Given the description of an element on the screen output the (x, y) to click on. 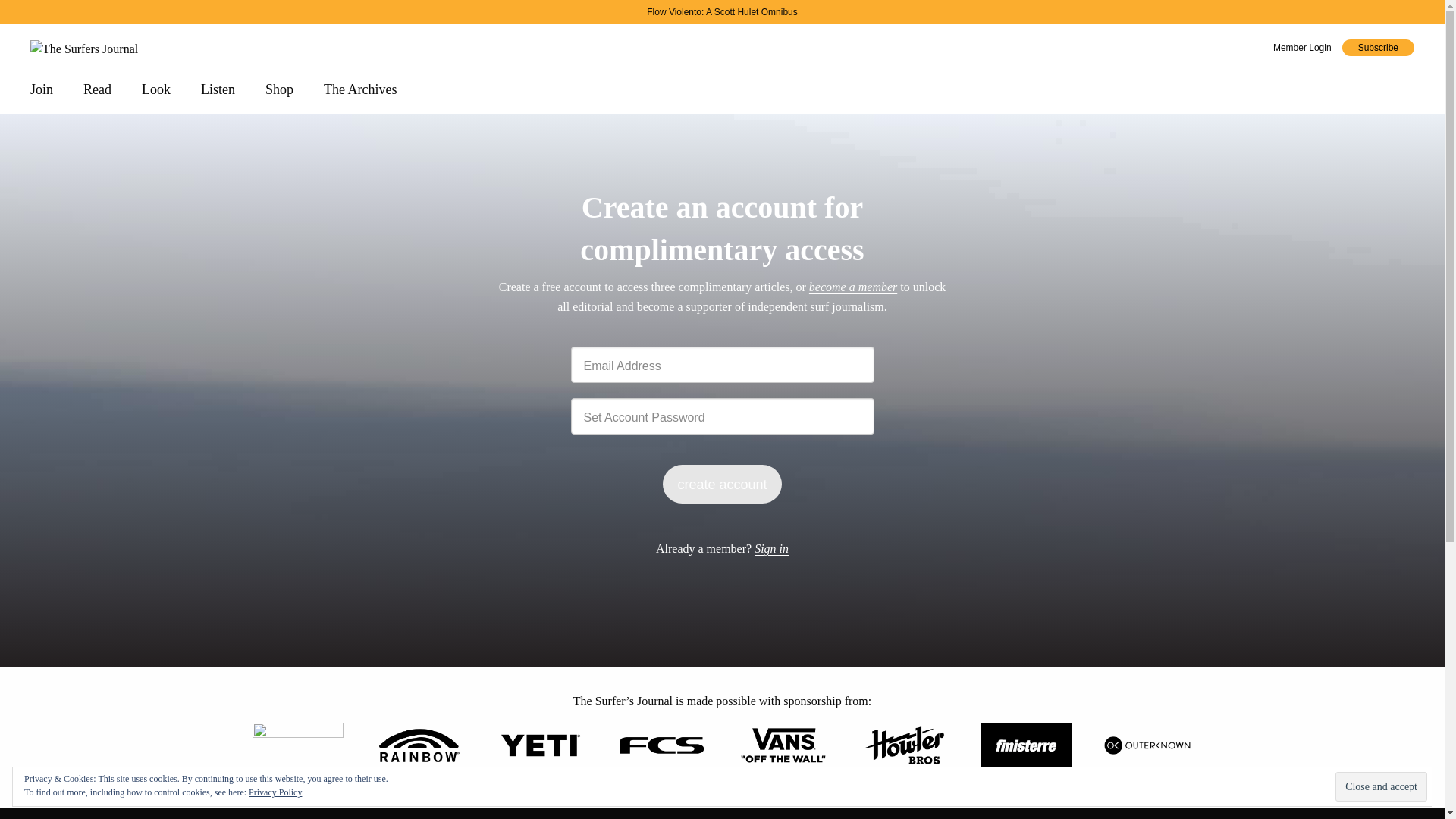
create account (721, 484)
Close and accept (1380, 786)
Flow Violento: A Scott Hulet Omnibus (721, 11)
